Given the description of an element on the screen output the (x, y) to click on. 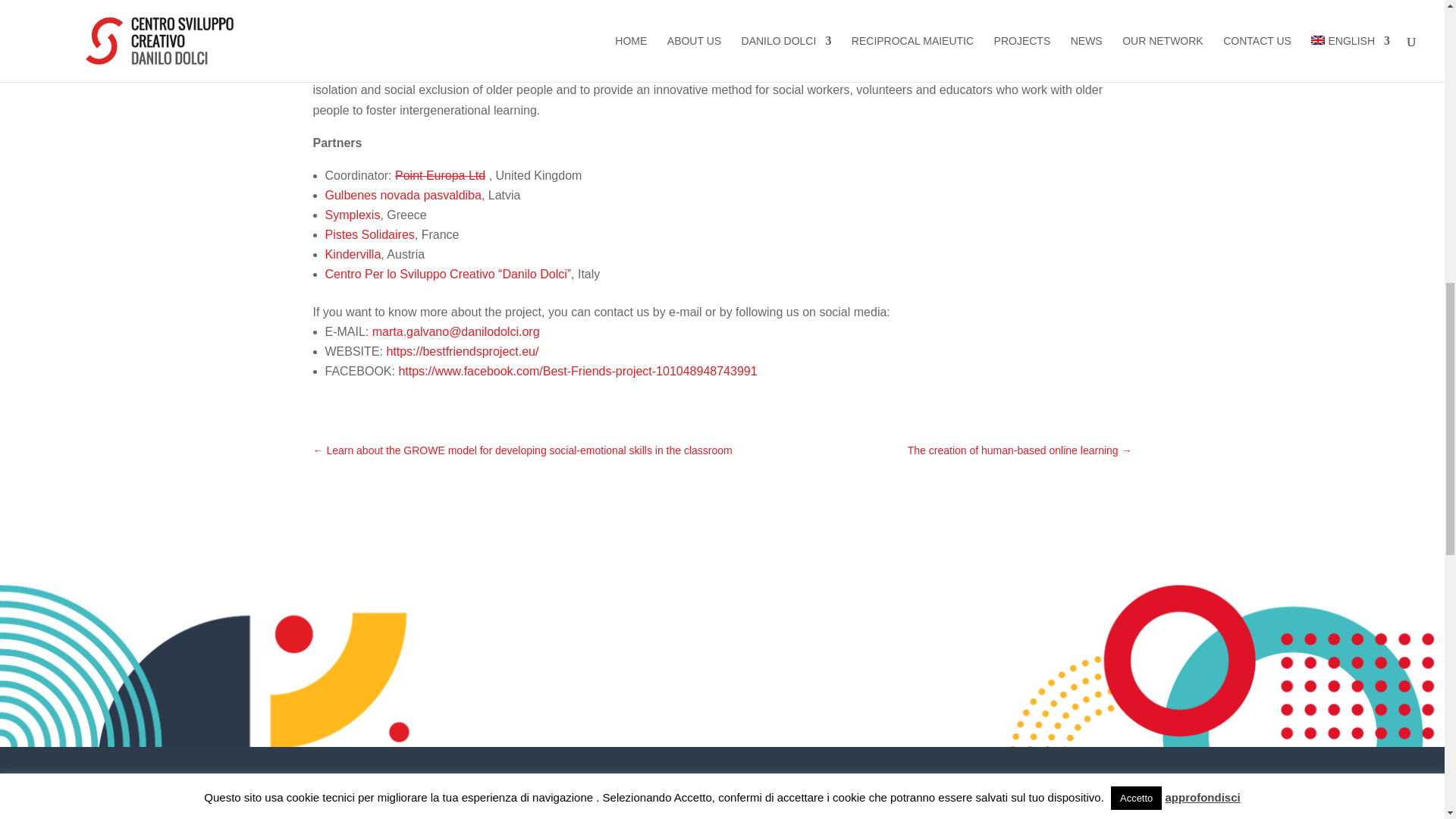
Gulbenes novada pasvaldiba (402, 195)
Kindervilla (352, 254)
Pistes Solidaires (368, 234)
Point Europa Ltd (439, 174)
Symplexis (352, 214)
